Given the description of an element on the screen output the (x, y) to click on. 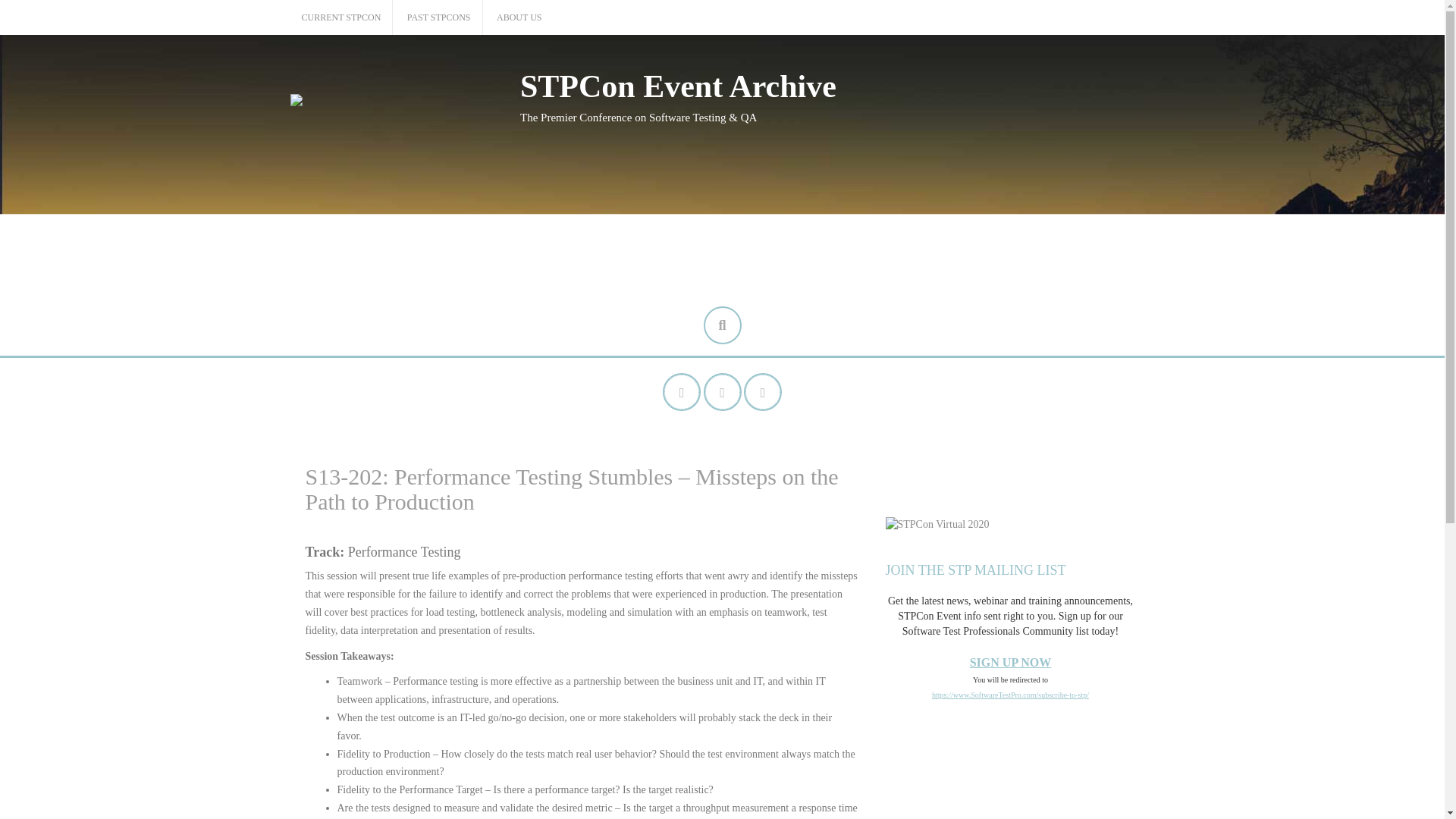
SIGN UP NOW (1010, 662)
ABOUT US (518, 17)
STPCon Event Archive (677, 86)
PAST STPCONS (438, 17)
CURRENT STPCON (341, 17)
